Given the description of an element on the screen output the (x, y) to click on. 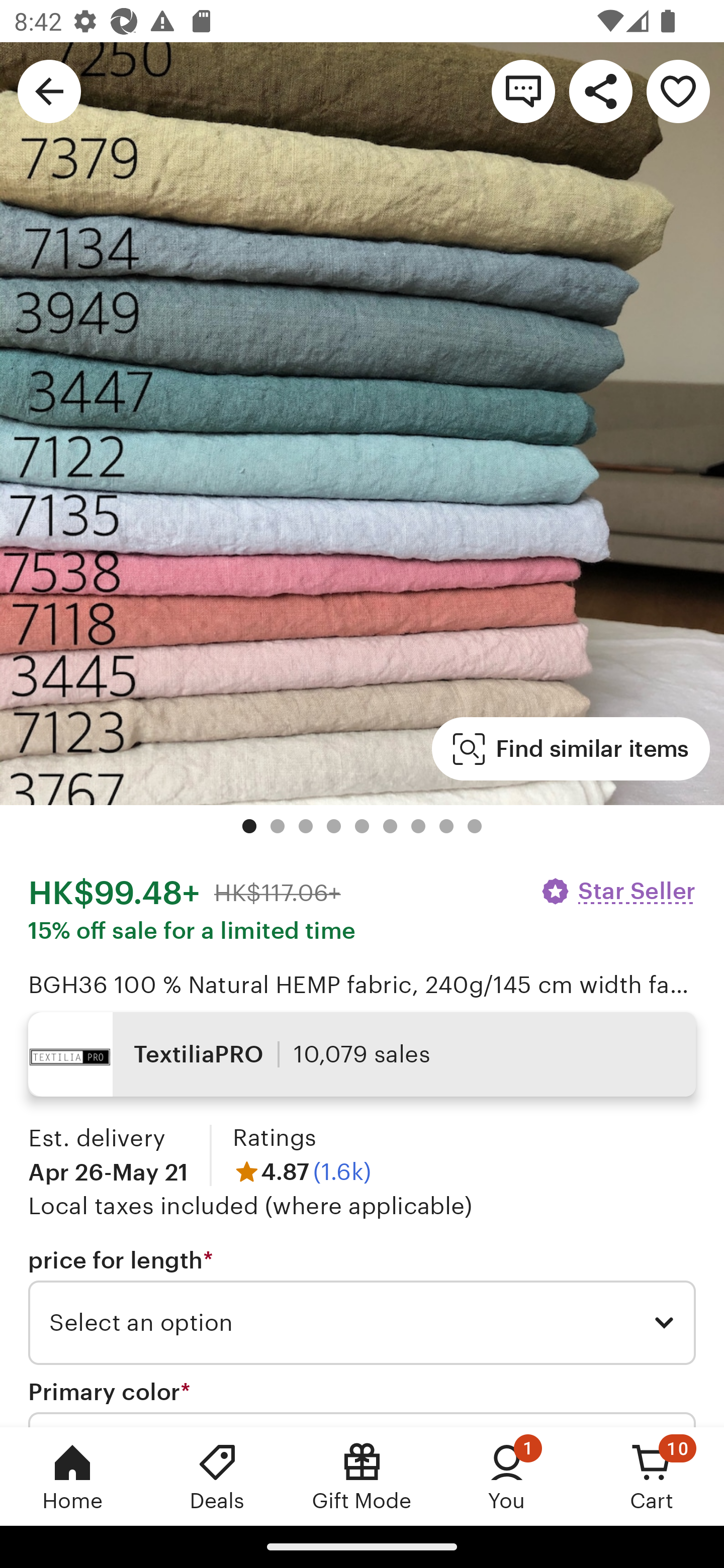
Navigate up (49, 90)
Contact shop (523, 90)
Share (600, 90)
Find similar items (571, 748)
Star Seller (617, 890)
TextiliaPRO 10,079 sales (361, 1054)
Ratings (275, 1137)
4.87 (1.6k) (302, 1171)
price for length * Required Select an option (361, 1306)
Select an option (361, 1323)
Primary color * Required Select an option (361, 1402)
Deals (216, 1475)
Gift Mode (361, 1475)
You, 1 new notification You (506, 1475)
Cart, 10 new notifications Cart (651, 1475)
